Given the description of an element on the screen output the (x, y) to click on. 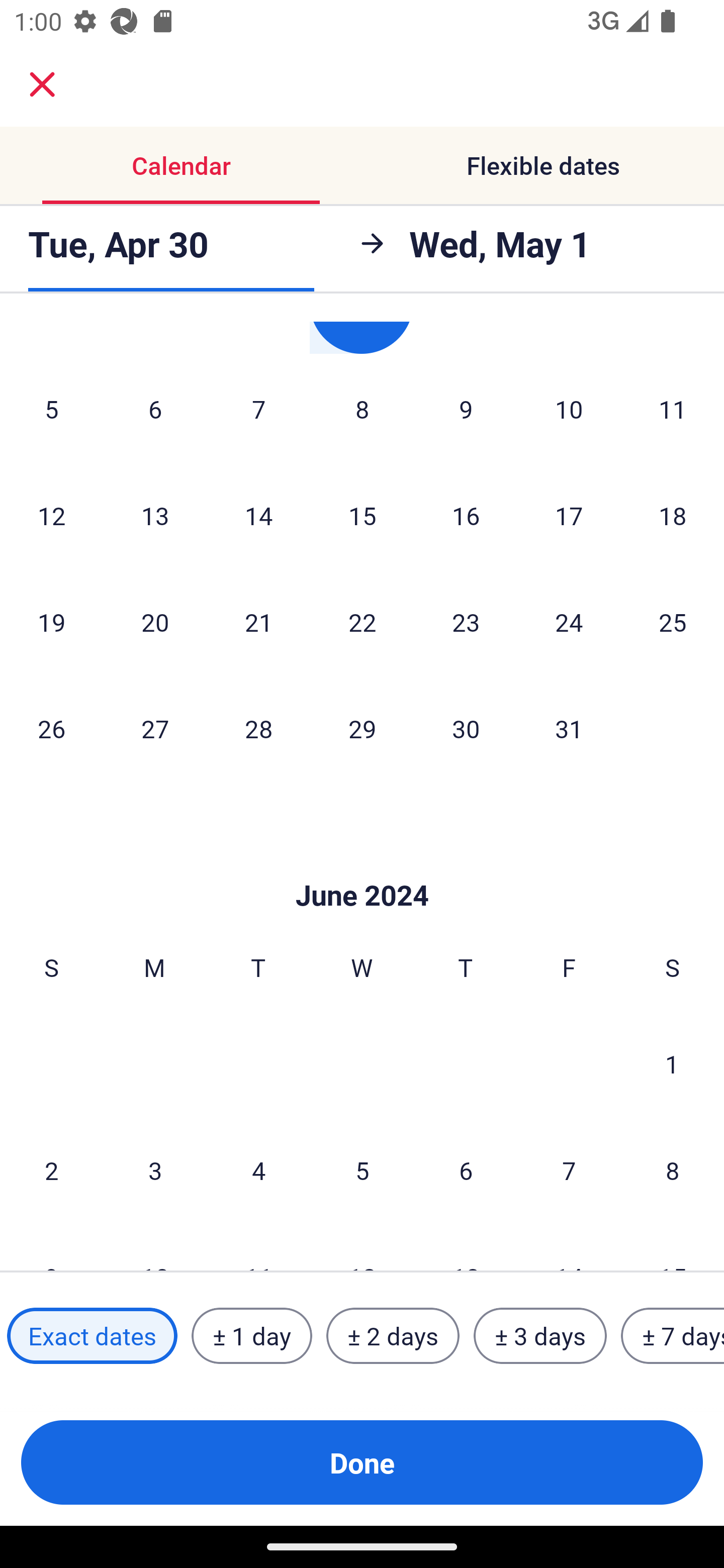
close. (42, 84)
Flexible dates (542, 164)
5 Sunday, May 5, 2024 (51, 408)
6 Monday, May 6, 2024 (155, 408)
7 Tuesday, May 7, 2024 (258, 408)
8 Wednesday, May 8, 2024 (362, 408)
9 Thursday, May 9, 2024 (465, 408)
10 Friday, May 10, 2024 (569, 408)
11 Saturday, May 11, 2024 (672, 408)
12 Sunday, May 12, 2024 (51, 515)
13 Monday, May 13, 2024 (155, 515)
14 Tuesday, May 14, 2024 (258, 515)
15 Wednesday, May 15, 2024 (362, 515)
16 Thursday, May 16, 2024 (465, 515)
17 Friday, May 17, 2024 (569, 515)
18 Saturday, May 18, 2024 (672, 515)
19 Sunday, May 19, 2024 (51, 621)
20 Monday, May 20, 2024 (155, 621)
21 Tuesday, May 21, 2024 (258, 621)
22 Wednesday, May 22, 2024 (362, 621)
23 Thursday, May 23, 2024 (465, 621)
24 Friday, May 24, 2024 (569, 621)
25 Saturday, May 25, 2024 (672, 621)
26 Sunday, May 26, 2024 (51, 728)
27 Monday, May 27, 2024 (155, 728)
28 Tuesday, May 28, 2024 (258, 728)
29 Wednesday, May 29, 2024 (362, 728)
30 Thursday, May 30, 2024 (465, 728)
31 Friday, May 31, 2024 (569, 728)
Skip to Done (362, 865)
1 Saturday, June 1, 2024 (672, 1063)
2 Sunday, June 2, 2024 (51, 1169)
3 Monday, June 3, 2024 (155, 1169)
4 Tuesday, June 4, 2024 (258, 1169)
5 Wednesday, June 5, 2024 (362, 1169)
6 Thursday, June 6, 2024 (465, 1169)
7 Friday, June 7, 2024 (569, 1169)
8 Saturday, June 8, 2024 (672, 1169)
Exact dates (92, 1335)
± 1 day (251, 1335)
± 2 days (392, 1335)
± 3 days (539, 1335)
± 7 days (672, 1335)
Done (361, 1462)
